Given the description of an element on the screen output the (x, y) to click on. 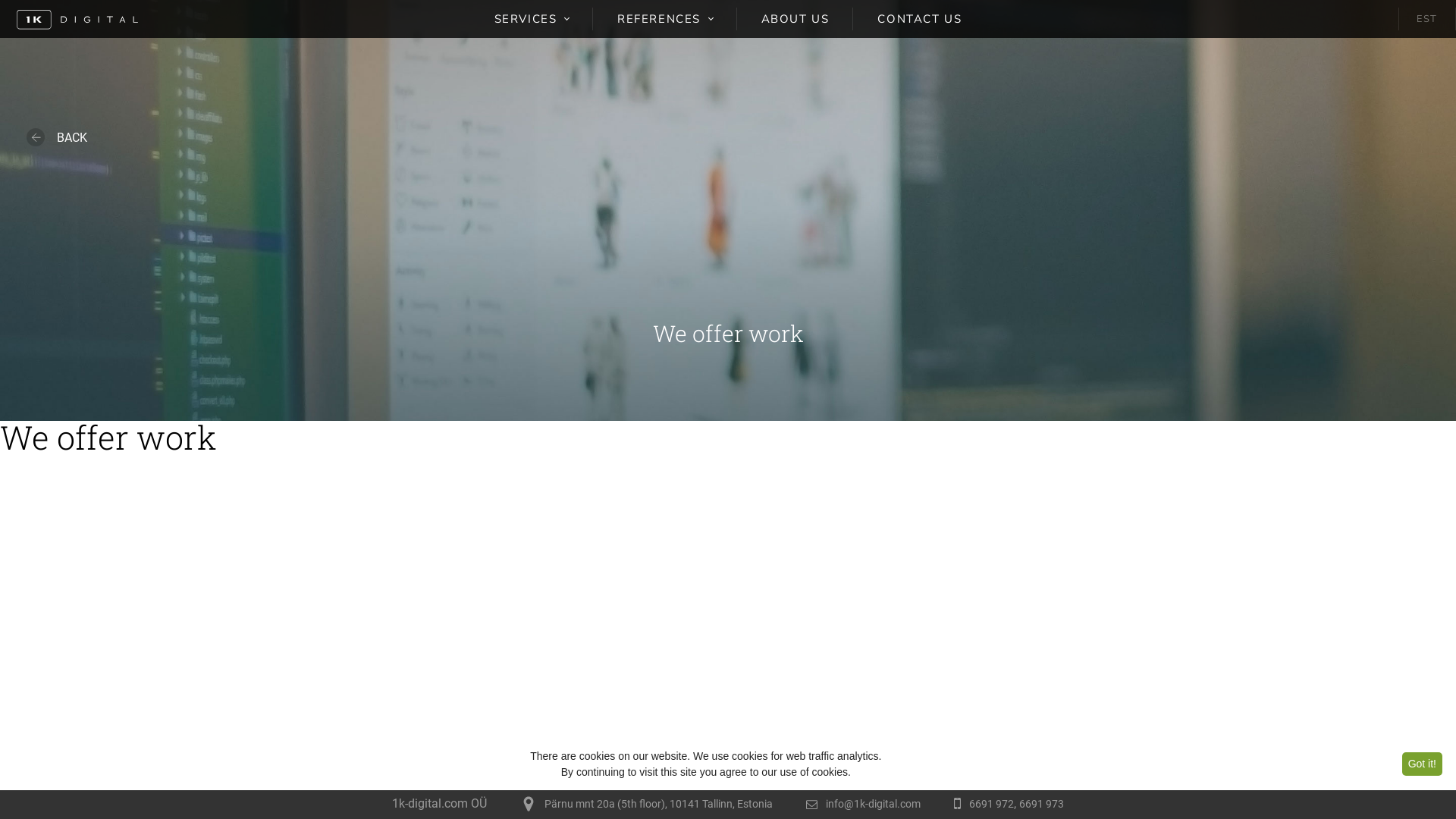
REFERENCES Element type: text (665, 18)
info@1k-digital.com Element type: text (872, 803)
CONTACT US Element type: text (919, 18)
BACK Element type: text (56, 137)
SERVICES Element type: text (531, 18)
ABOUT US Element type: text (795, 18)
6691 972 Element type: text (991, 803)
6691 973 Element type: text (1041, 803)
